Given the description of an element on the screen output the (x, y) to click on. 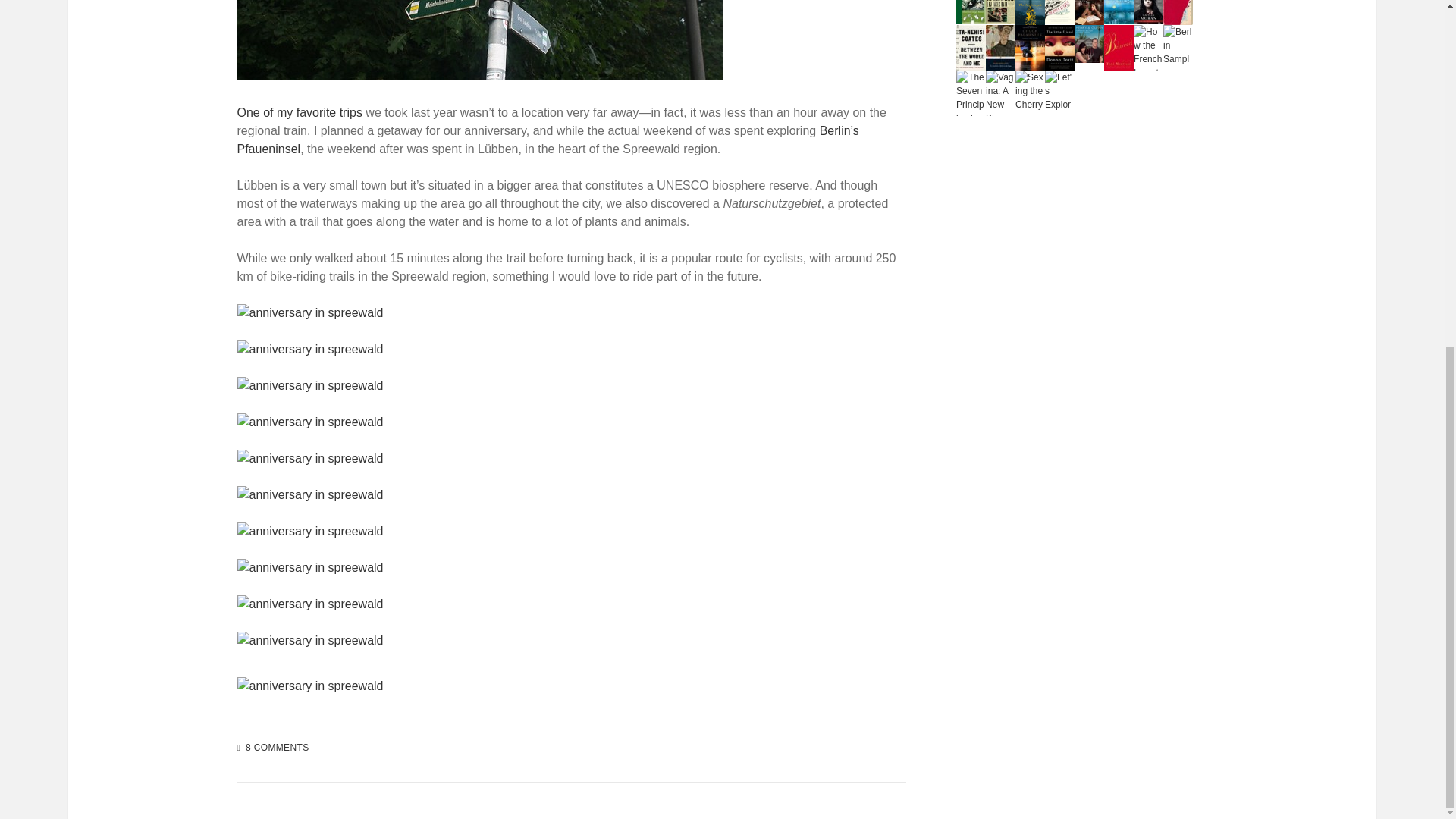
anniversary in spreewald by natalyesaurus, on Flickr (308, 458)
anniversary in spreewald by natalyesaurus, on Flickr (308, 385)
anniversary in spreewald by natalyesaurus, on Flickr (308, 421)
anniversary in spreewald by natalyesaurus, on Flickr (308, 349)
anniversary in spreewald by natalyesaurus, on Flickr (308, 312)
anniversary in spreewald by natalyesaurus, on Flickr (308, 494)
8 COMMENTS (277, 747)
anniversary in spreewald by natalyesaurus, on Flickr (308, 530)
One of my favorite trips (298, 112)
anniversary in spreewald by natalyesaurus, on Flickr (478, 75)
